Given the description of an element on the screen output the (x, y) to click on. 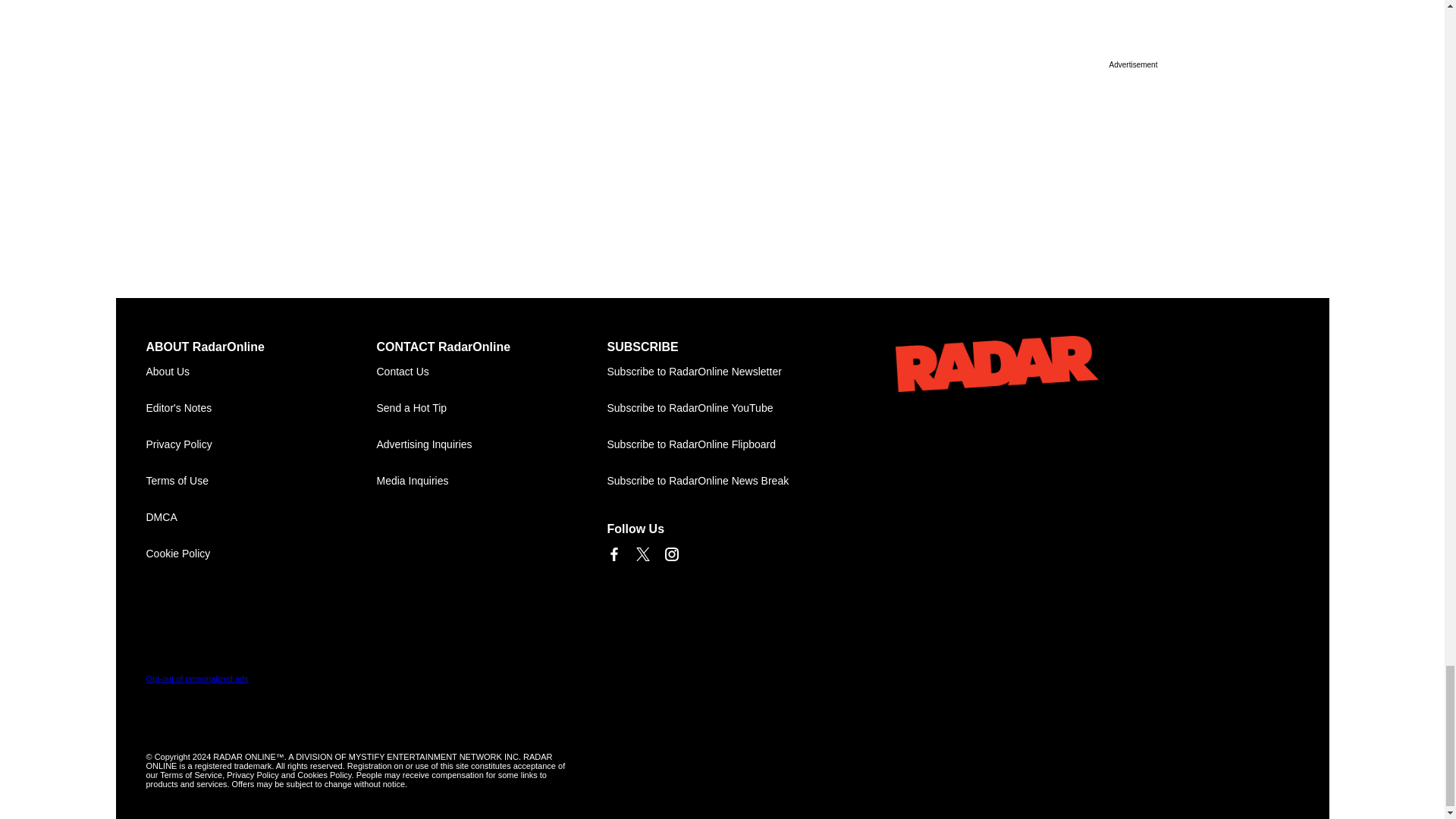
Terms of Use (260, 481)
Subscribe to RadarOnline Flipboard (722, 444)
Contact Us (491, 371)
Editor's Notes (260, 408)
Media Inquiries (491, 481)
Contact Us (491, 371)
Editor's Notes (260, 408)
Cookie Policy (260, 554)
Cookie Policy (260, 554)
Subscribe to RadarOnline on YouTube (722, 408)
